Given the description of an element on the screen output the (x, y) to click on. 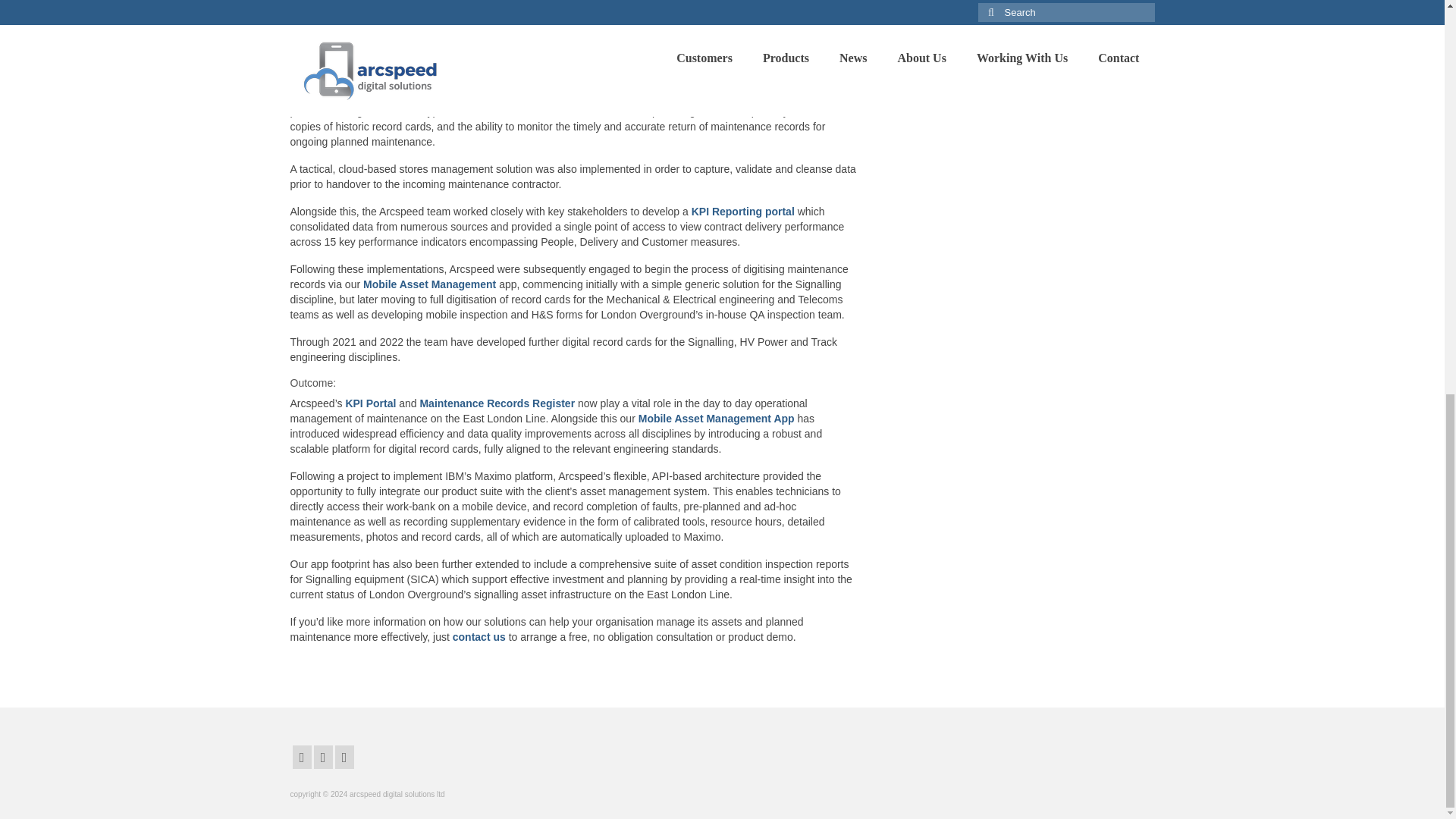
Mobile Asset Management App (716, 418)
Mobile Asset Management (429, 284)
contact us (478, 636)
Maintenance Records Register (741, 96)
KPI Portal (370, 403)
Maintenance Records Register (497, 403)
KPI Reporting portal (742, 211)
